Given the description of an element on the screen output the (x, y) to click on. 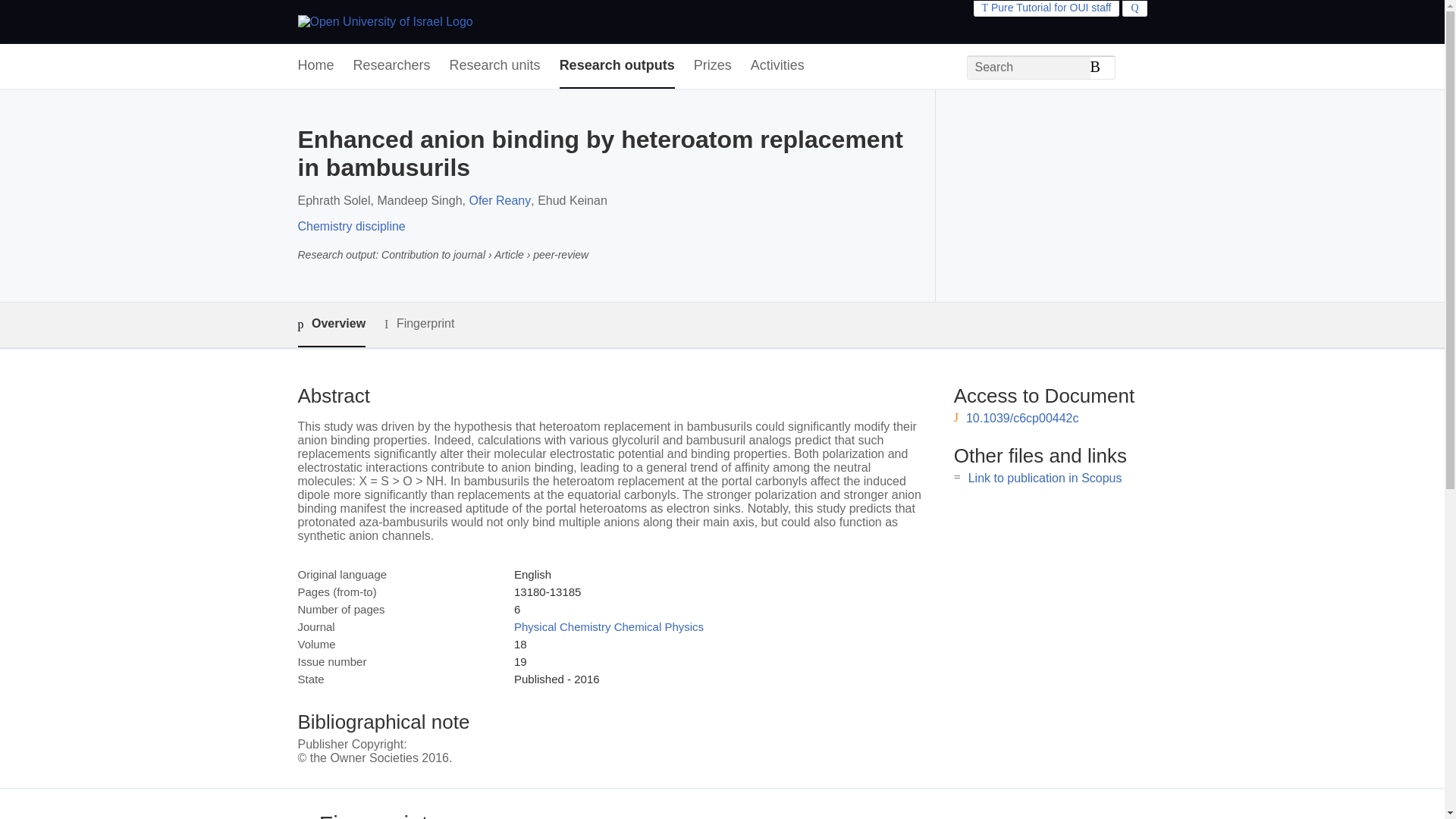
Physical Chemistry Chemical Physics (608, 626)
Overview (331, 324)
Link to publication in Scopus (1045, 477)
Research units (494, 66)
Research outputs (617, 66)
Pure Tutorial for OUI staff (1046, 7)
Home (315, 66)
Chemistry discipline (350, 226)
Fingerprint (419, 323)
Open University of Israel Home (384, 21)
Prizes (713, 66)
Ofer Reany (499, 200)
Researchers (391, 66)
Activities (778, 66)
